Given the description of an element on the screen output the (x, y) to click on. 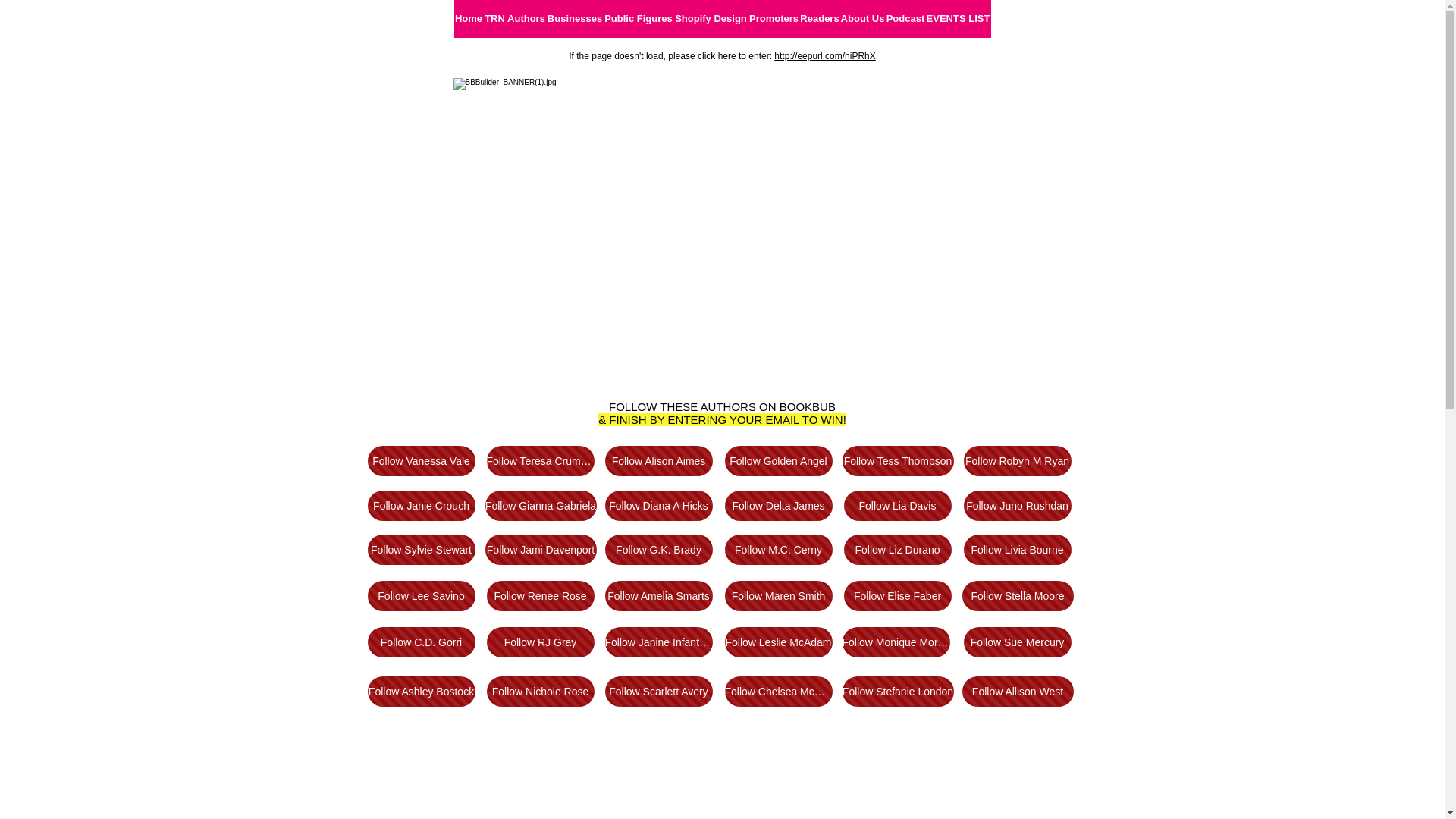
Follow Allison West Element type: text (1017, 691)
Follow Leslie McAdam Element type: text (778, 642)
Follow Renee Rose Element type: text (540, 595)
Follow Jami Davenport Element type: text (540, 549)
Authors Element type: text (526, 18)
Follow RJ Gray Element type: text (540, 642)
Follow Golden Angel Element type: text (778, 460)
Follow Amelia Smarts Element type: text (658, 595)
Follow Janine Infante Bosco Element type: text (658, 642)
Follow Delta James Element type: text (778, 505)
About Us Element type: text (862, 18)
Readers Element type: text (819, 18)
Follow Alison Aimes Element type: text (658, 460)
Follow Janie Crouch Element type: text (420, 505)
Follow Sylvie Stewart Element type: text (420, 549)
Follow Sue Mercury Element type: text (1016, 642)
Follow Monique Moreau Element type: text (895, 642)
Follow Chelsea McDonald Element type: text (778, 691)
Public Figures Element type: text (638, 18)
Follow Lia Davis Element type: text (896, 505)
Follow Lee Savino Element type: text (420, 595)
Follow Tess Thompson Element type: text (897, 460)
Follow Liz Durano Element type: text (896, 549)
Podcast Element type: text (905, 18)
Follow M.C. Cerny Element type: text (778, 549)
Follow Elise Faber Element type: text (896, 595)
EVENTS LIST Element type: text (957, 18)
Follow Robyn M Ryan Element type: text (1016, 460)
TRN Element type: text (494, 18)
Promoters Element type: text (773, 18)
Follow Nichole Rose Element type: text (540, 691)
Follow Livia Bourne Element type: text (1016, 549)
Follow Juno Rushdan Element type: text (1016, 505)
Shopify Design Element type: text (710, 18)
Follow Diana A Hicks Element type: text (658, 505)
Follow C.D. Gorri Element type: text (420, 642)
Follow Gianna Gabriela Element type: text (540, 505)
Follow Ashley Bostock Element type: text (420, 691)
Follow Stefanie London Element type: text (897, 691)
Follow Scarlett Avery Element type: text (658, 691)
Follow Teresa Crumpton Element type: text (540, 460)
Home Element type: text (468, 18)
Follow Vanessa Vale Element type: text (420, 460)
Follow G.K. Brady Element type: text (658, 549)
Follow Stella Moore Element type: text (1017, 595)
http://eepurl.com/hiPRhX Element type: text (824, 55)
Follow Maren Smith Element type: text (778, 595)
